Given the description of an element on the screen output the (x, y) to click on. 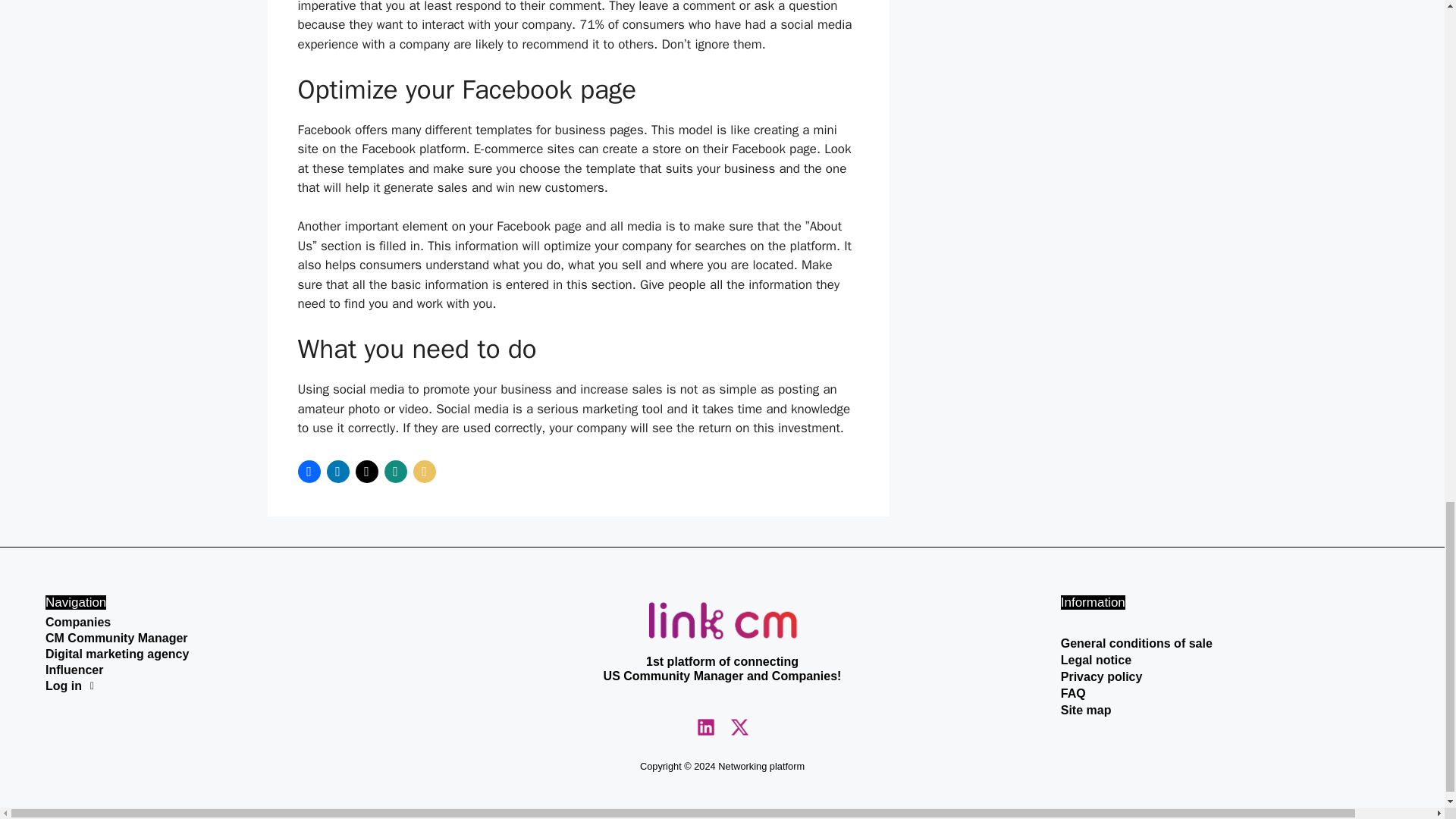
Influencer (214, 670)
Digital marketing agency (214, 654)
FAQ (1230, 693)
Companies (214, 622)
Site map (1230, 710)
CM Community Manager (214, 638)
Legal notice (1230, 660)
Log in (214, 686)
Privacy policy (1230, 677)
General conditions of sale (1230, 643)
